Given the description of an element on the screen output the (x, y) to click on. 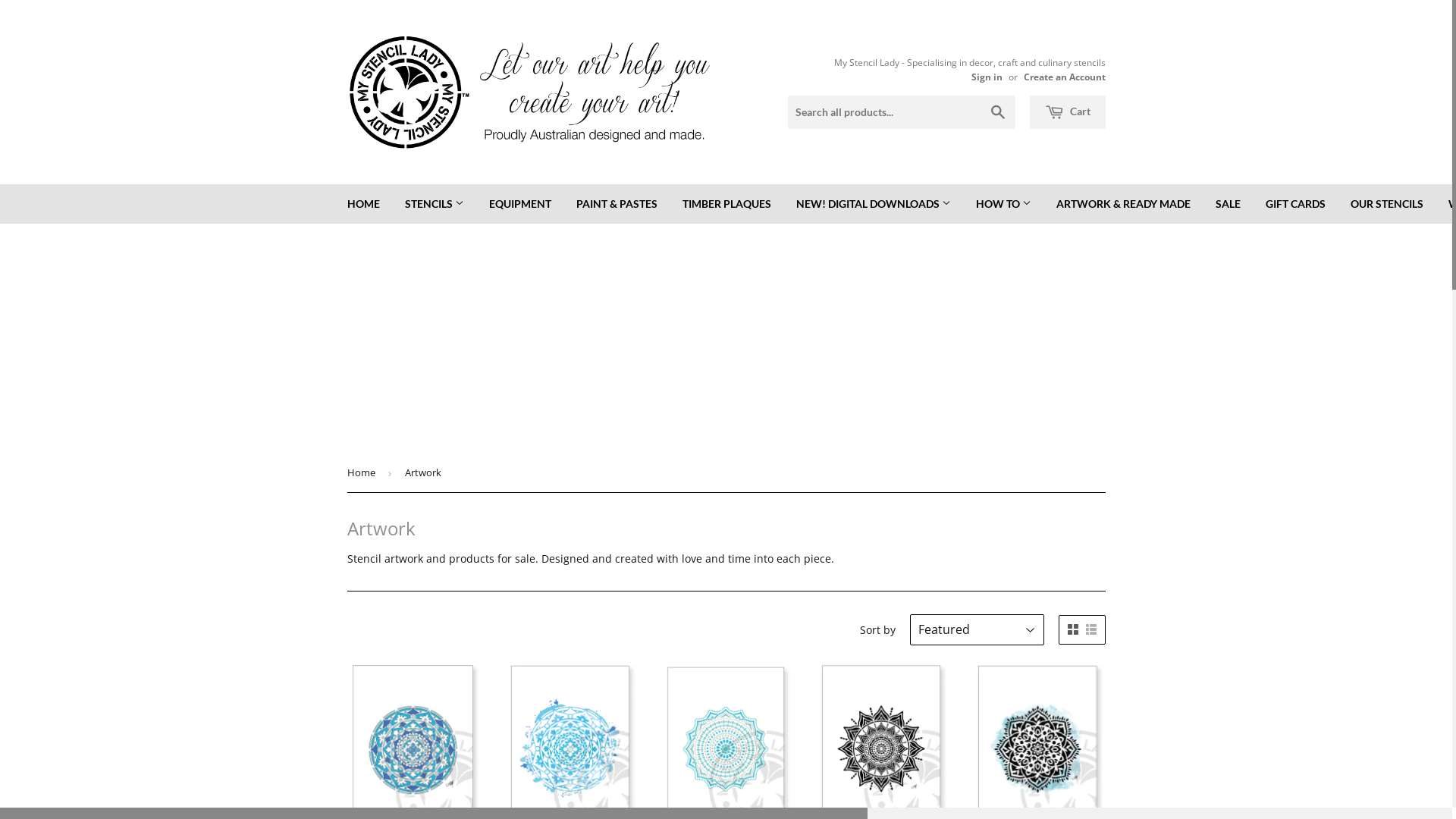
List view Element type: hover (1090, 629)
Grid view Element type: hover (1072, 629)
NEW! DIGITAL DOWNLOADS Element type: text (872, 202)
SALE Element type: text (1228, 202)
Search Element type: text (998, 112)
Create an Account Element type: text (1064, 76)
HOW TO Element type: text (1003, 202)
OUR STENCILS Element type: text (1386, 202)
ARTWORK & READY MADE Element type: text (1122, 202)
GIFT CARDS Element type: text (1295, 202)
Cart Element type: text (1067, 111)
PAINT & PASTES Element type: text (616, 202)
STENCILS Element type: text (433, 202)
HOME Element type: text (362, 202)
Sign in Element type: text (985, 76)
TIMBER PLAQUES Element type: text (725, 202)
Home Element type: text (363, 472)
EQUIPMENT Element type: text (519, 202)
